Given the description of an element on the screen output the (x, y) to click on. 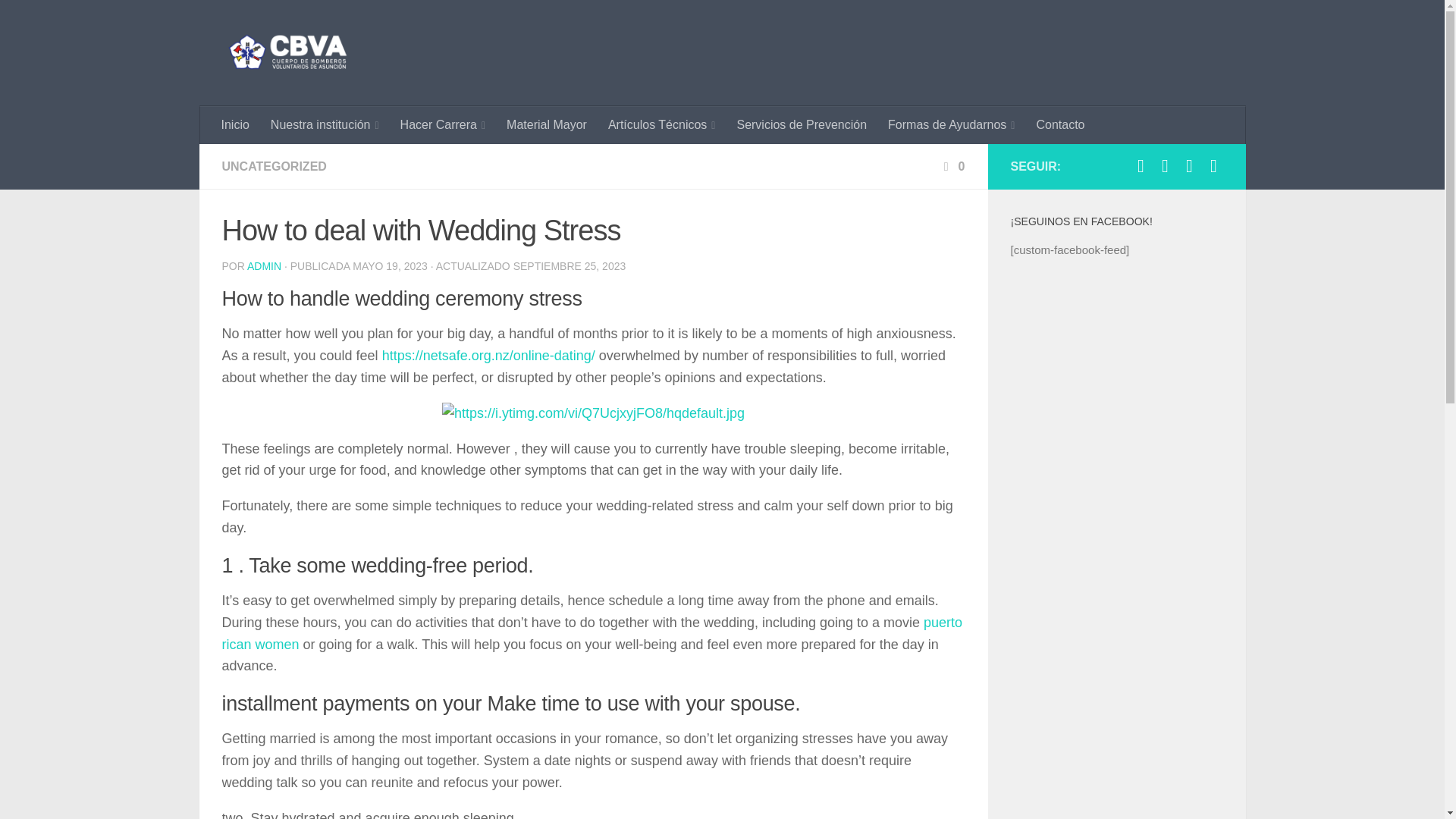
Material Mayor (546, 125)
Entradas de admin (264, 265)
Inicio (235, 125)
Inicio (235, 125)
Hacer Carrera (443, 125)
